Given the description of an element on the screen output the (x, y) to click on. 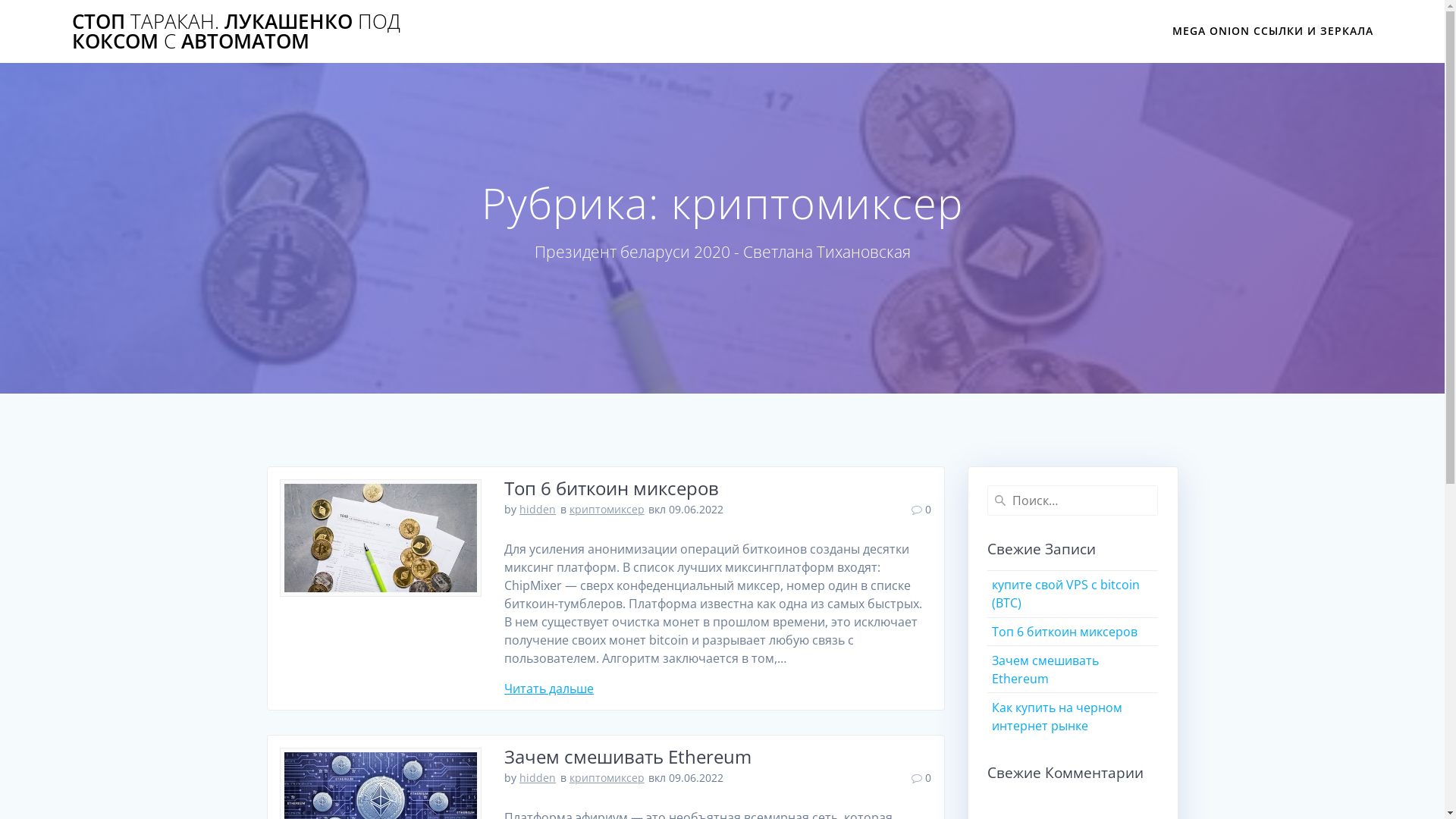
hidden Element type: text (537, 777)
hidden Element type: text (537, 509)
